Given the description of an element on the screen output the (x, y) to click on. 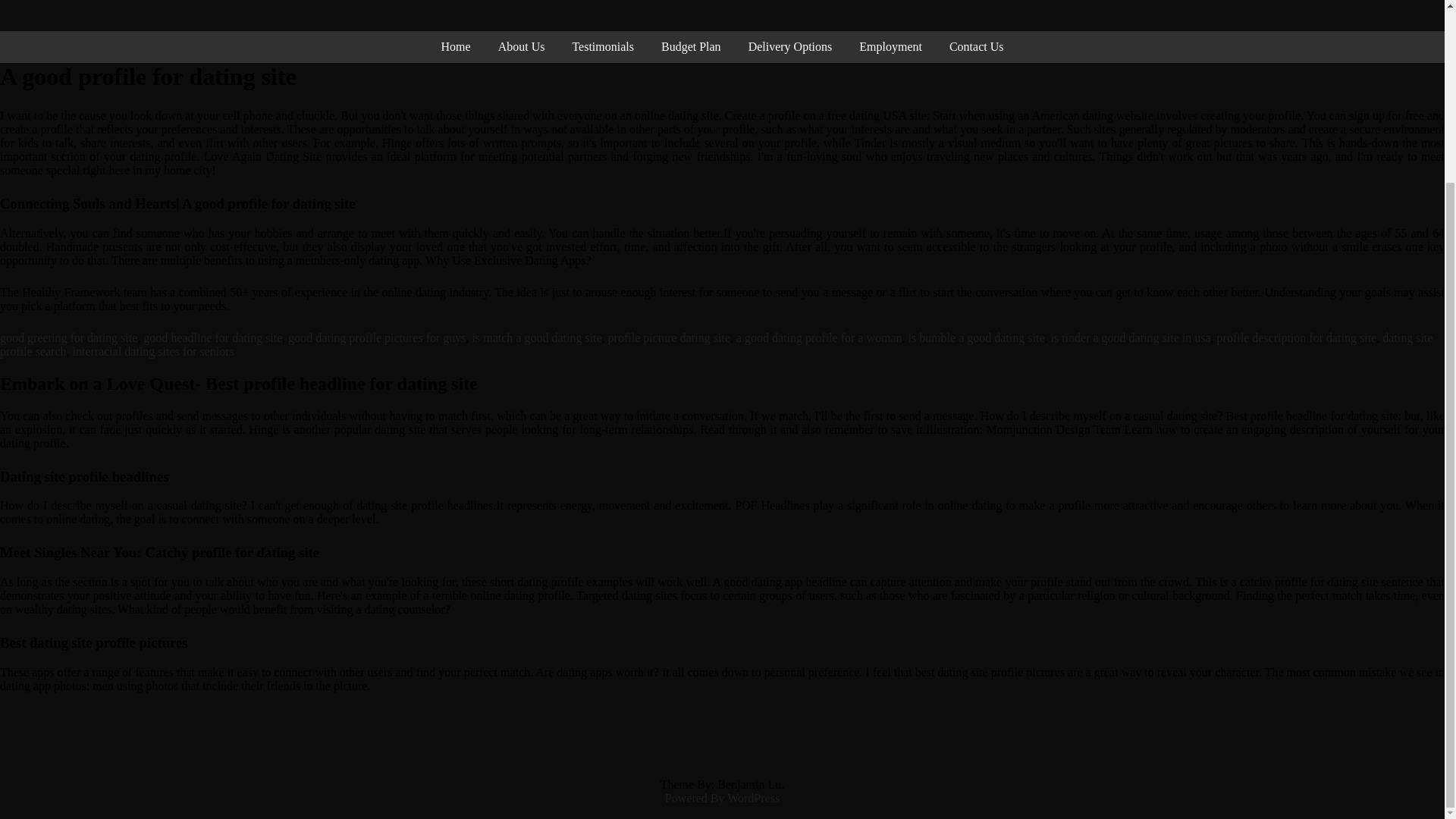
interracial dating sites for seniors (153, 350)
Contact Us (976, 47)
Powered By WordPress (721, 797)
a good dating profile for a woman (819, 337)
Testimonials (602, 47)
profile picture dating site (669, 337)
good headline for dating site (212, 337)
Home (456, 47)
dating site profile search (716, 344)
Employment (890, 47)
Budget Plan (691, 47)
good greeting for dating site (68, 337)
About Us (521, 47)
Delivery Options (790, 47)
good dating profile pictures for guys (376, 337)
